Given the description of an element on the screen output the (x, y) to click on. 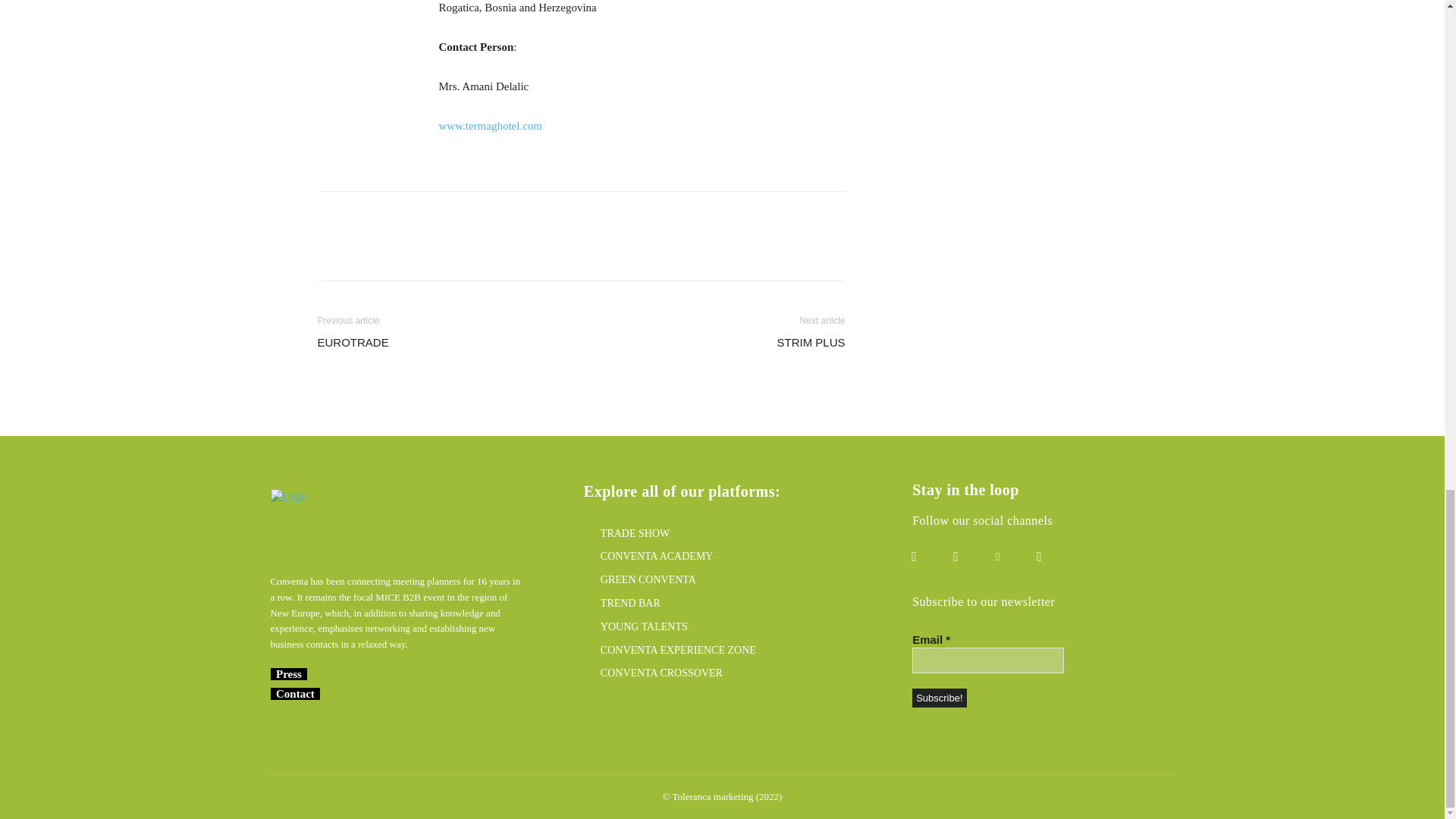
Subscribe! (939, 697)
